Given the description of an element on the screen output the (x, y) to click on. 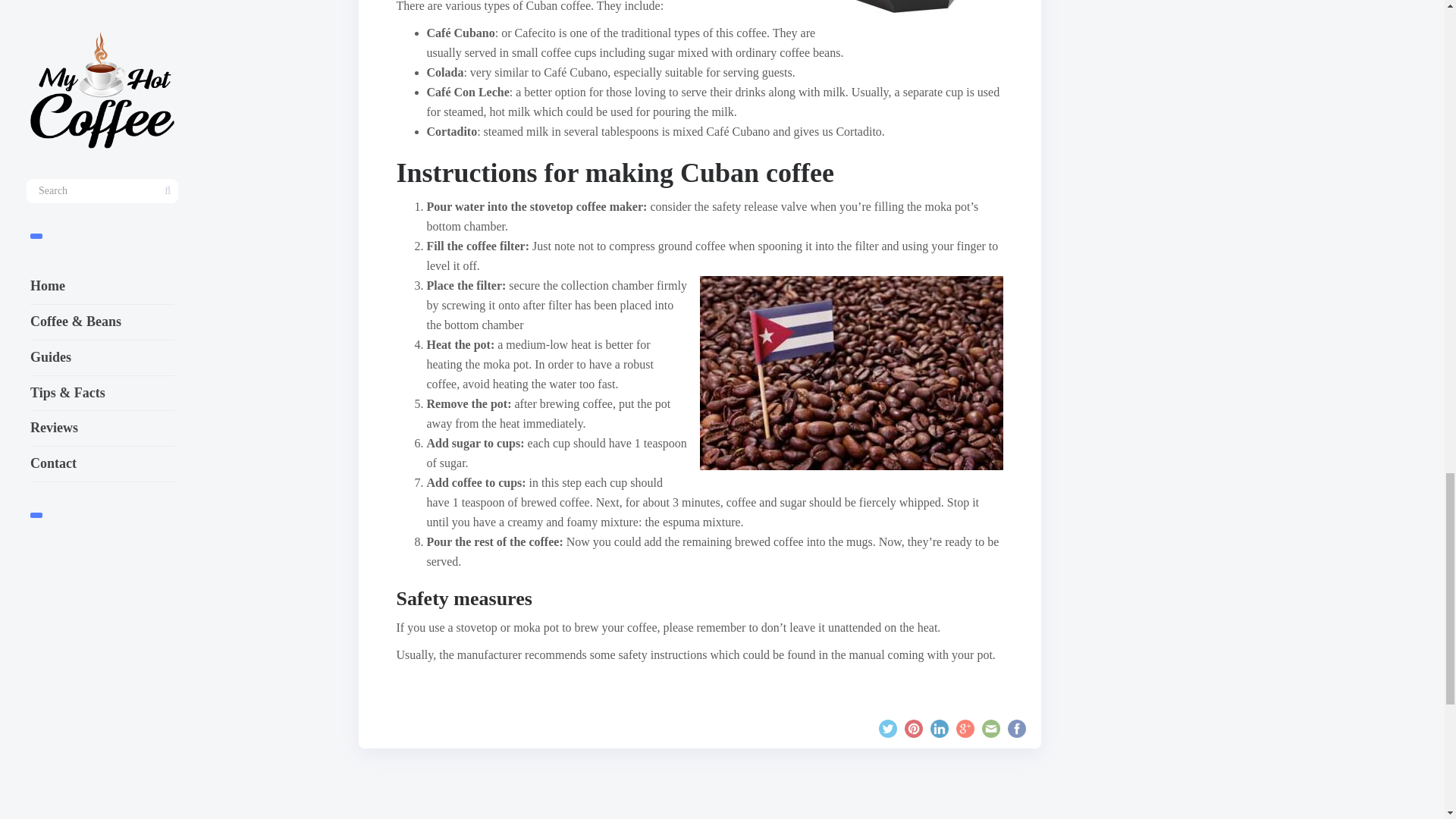
Email (989, 728)
Facebook (1016, 728)
Pinterest (912, 728)
Twitter (886, 728)
Linkedin (938, 728)
